Given the description of an element on the screen output the (x, y) to click on. 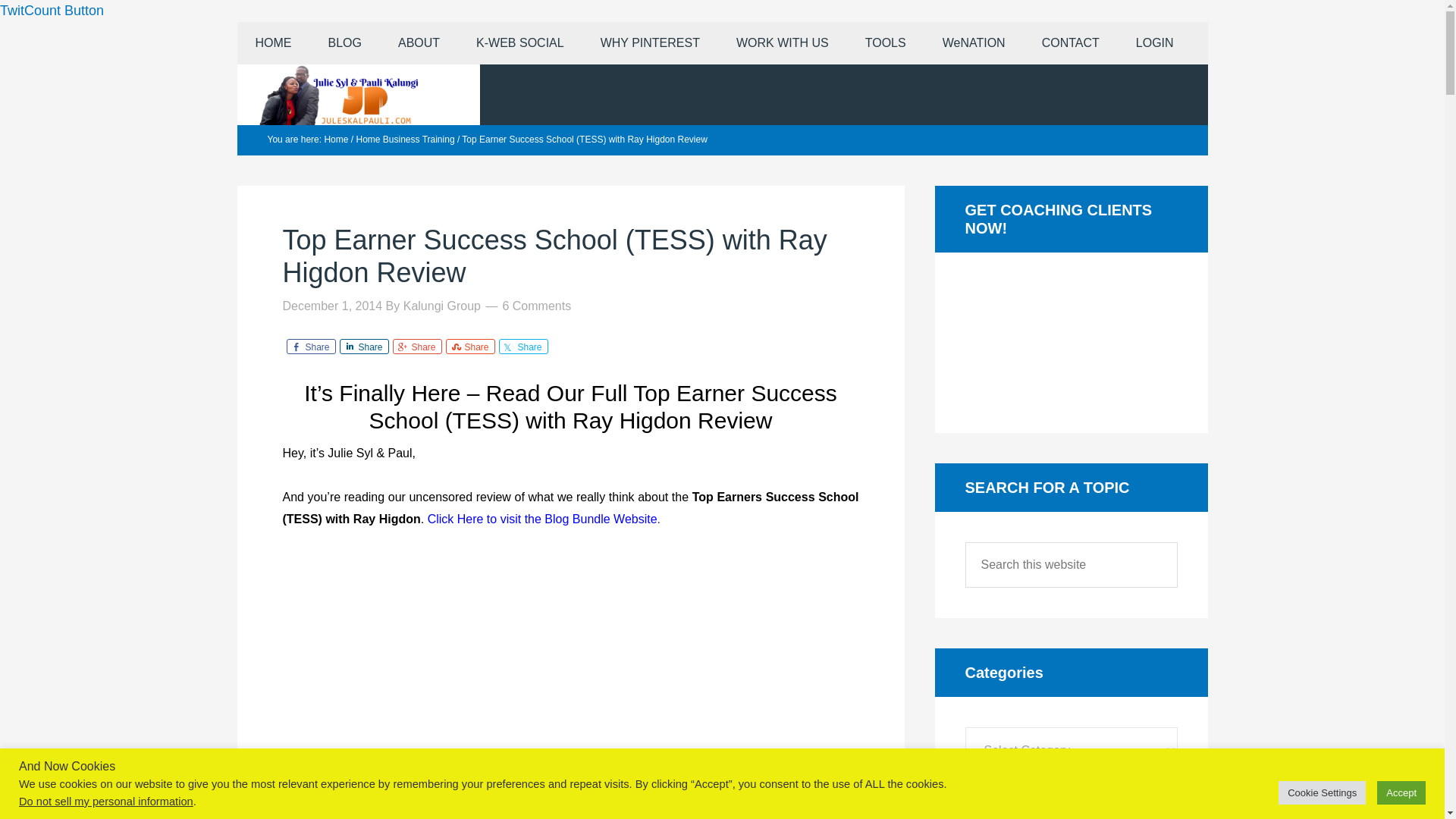
WeNATION (973, 43)
Kalungi Group (441, 305)
HOME (271, 43)
Home (335, 139)
ABOUT (419, 43)
Home Business Training (405, 139)
TwitCount Button (51, 10)
Share (363, 346)
CONTACT (1070, 43)
WORK WITH US (782, 43)
K-WEB SOCIAL (520, 43)
WHY PINTEREST (649, 43)
TESS (543, 518)
